Given the description of an element on the screen output the (x, y) to click on. 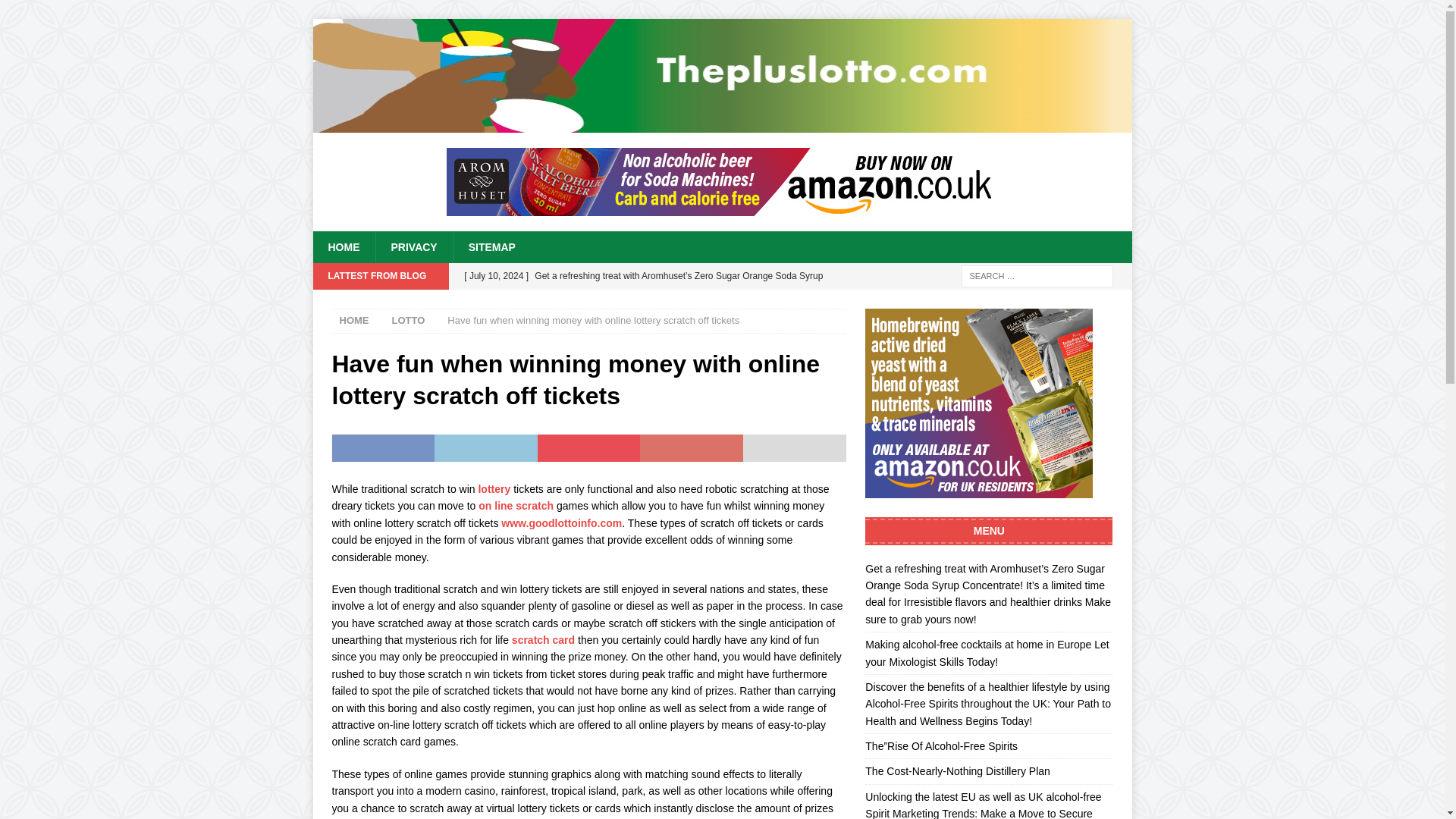
HOME (354, 319)
HOME (343, 246)
lottery (494, 489)
PRIVACY (412, 246)
www.goodlottoinfo.com (560, 522)
scratch card (543, 639)
Search (56, 11)
LOTTO (408, 319)
Thepluslotto (722, 123)
on line scratch (516, 505)
SITEMAP (491, 246)
